Given the description of an element on the screen output the (x, y) to click on. 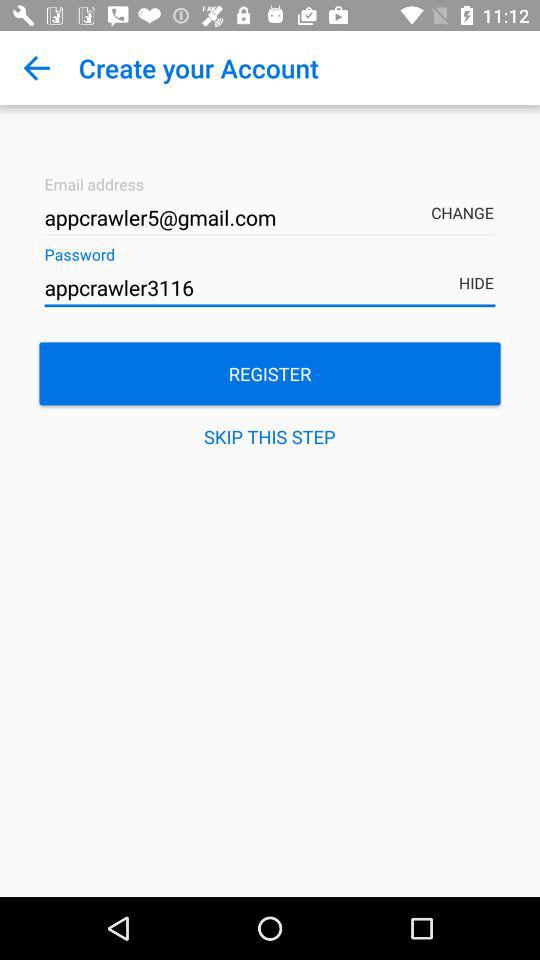
click the icon below register (269, 436)
